Given the description of an element on the screen output the (x, y) to click on. 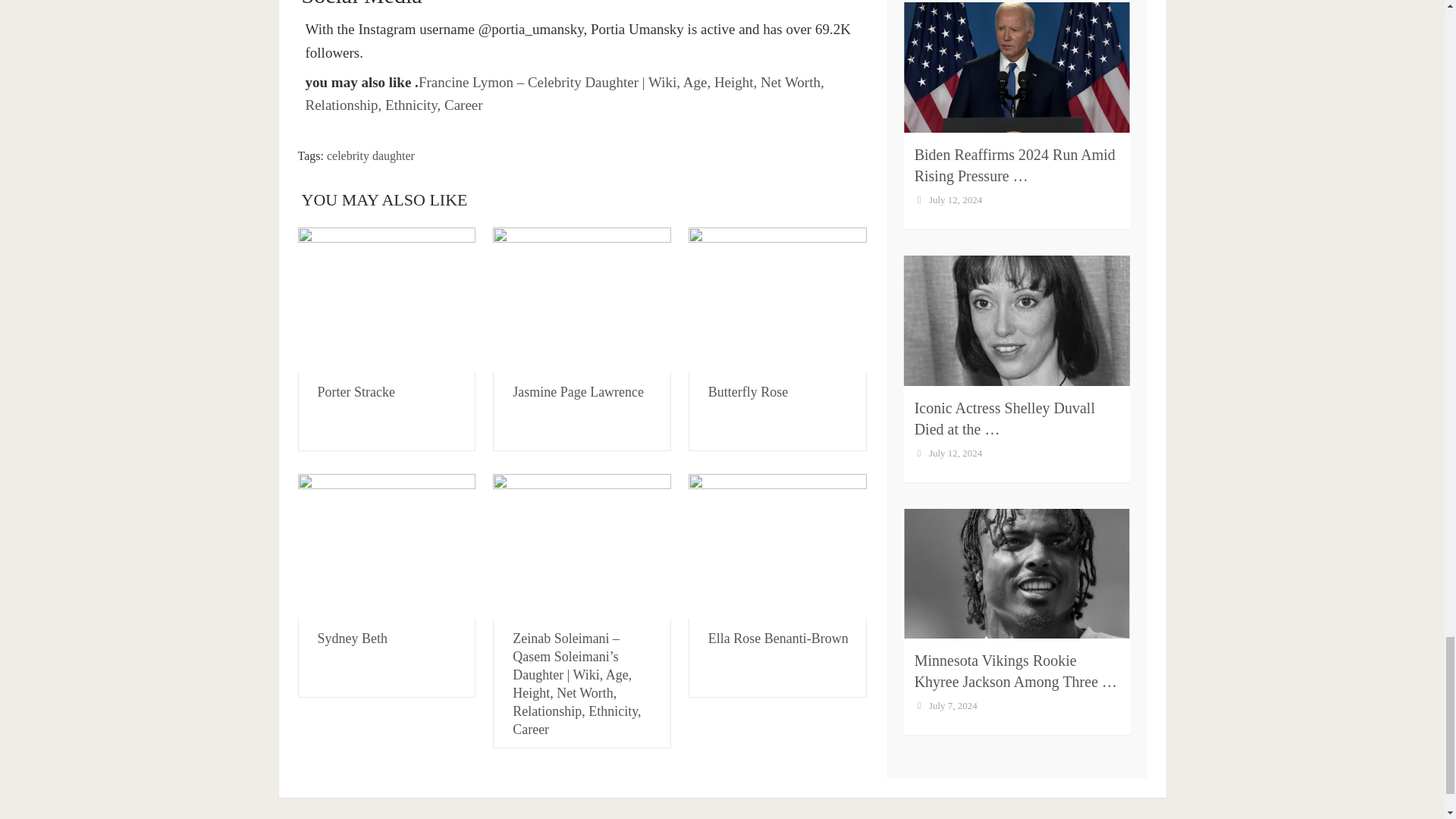
Jasmine Page Lawrence (582, 299)
Porter Stracke (355, 391)
Porter Stracke (386, 299)
Jasmine Page Lawrence (577, 391)
Butterfly Rose (748, 391)
Sydney Beth (352, 638)
Ella Rose Benanti-Brown (777, 546)
Sydney Beth (386, 546)
Butterfly Rose (777, 299)
celebrity daughter (370, 155)
